Given the description of an element on the screen output the (x, y) to click on. 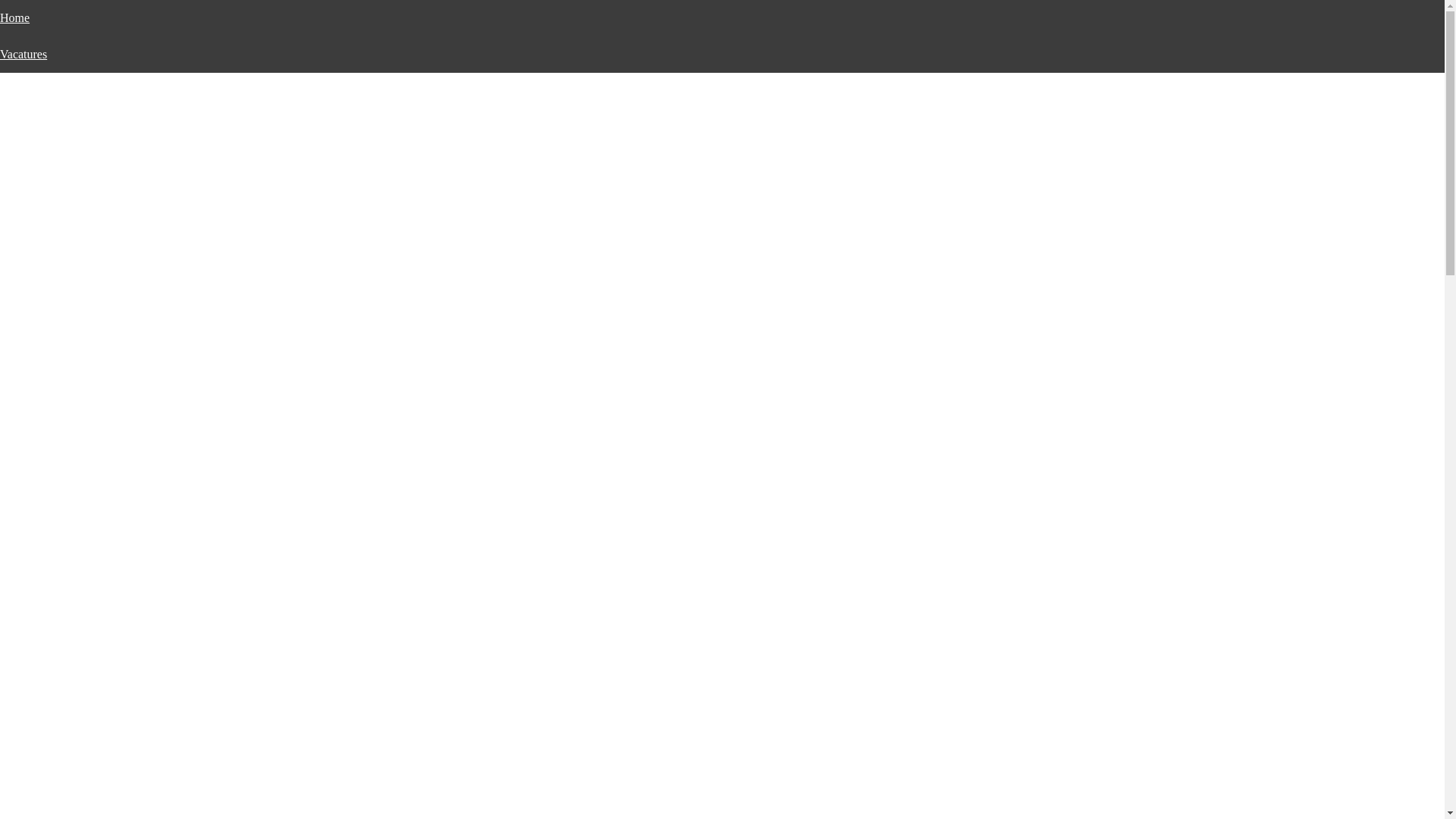
Home Element type: text (14, 17)
Vacatures Element type: text (23, 53)
